Given the description of an element on the screen output the (x, y) to click on. 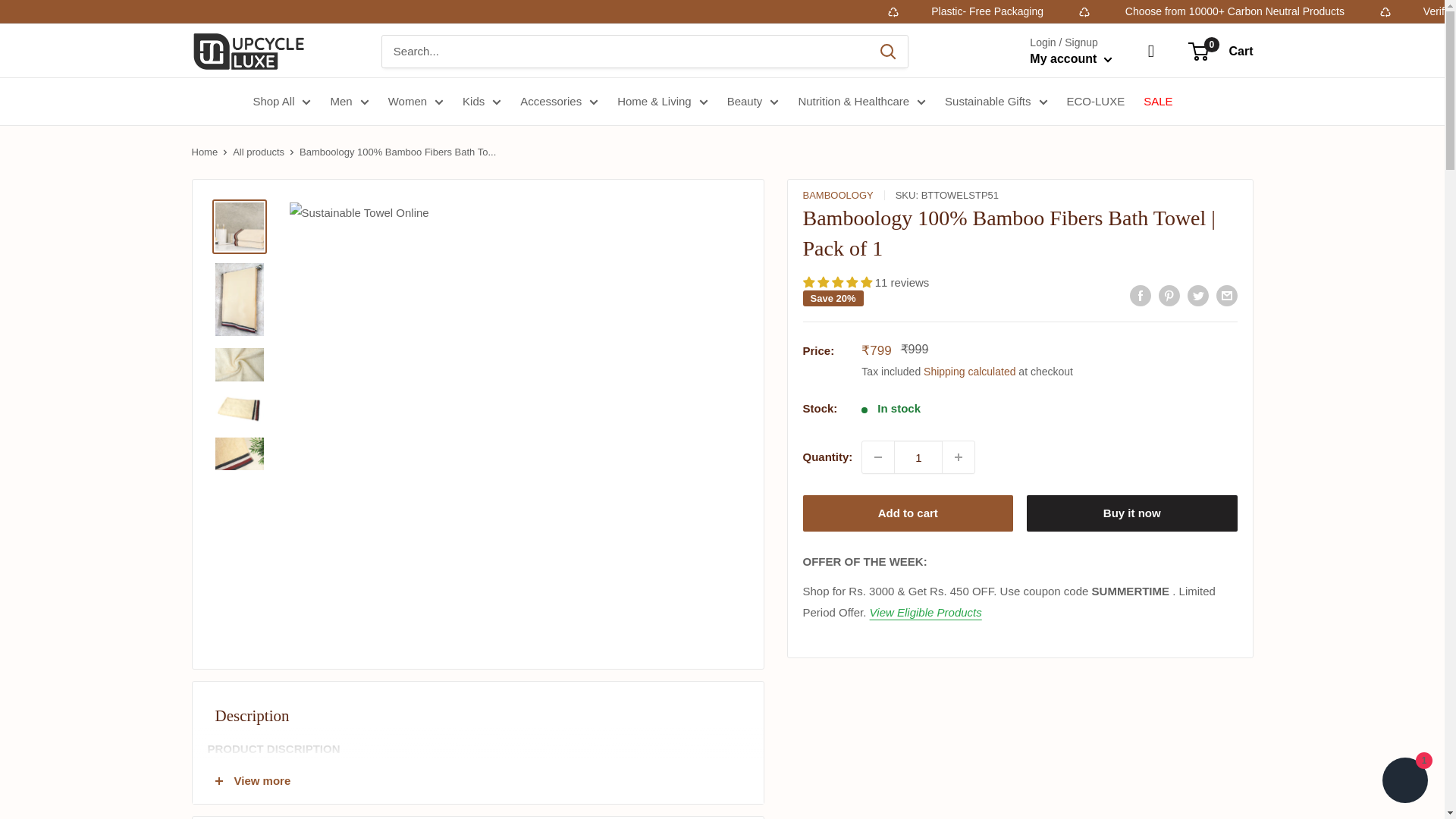
Increase quantity by 1 (958, 457)
Shopify online store chat (1404, 781)
1 (917, 457)
Decrease quantity by 1 (877, 457)
